Given the description of an element on the screen output the (x, y) to click on. 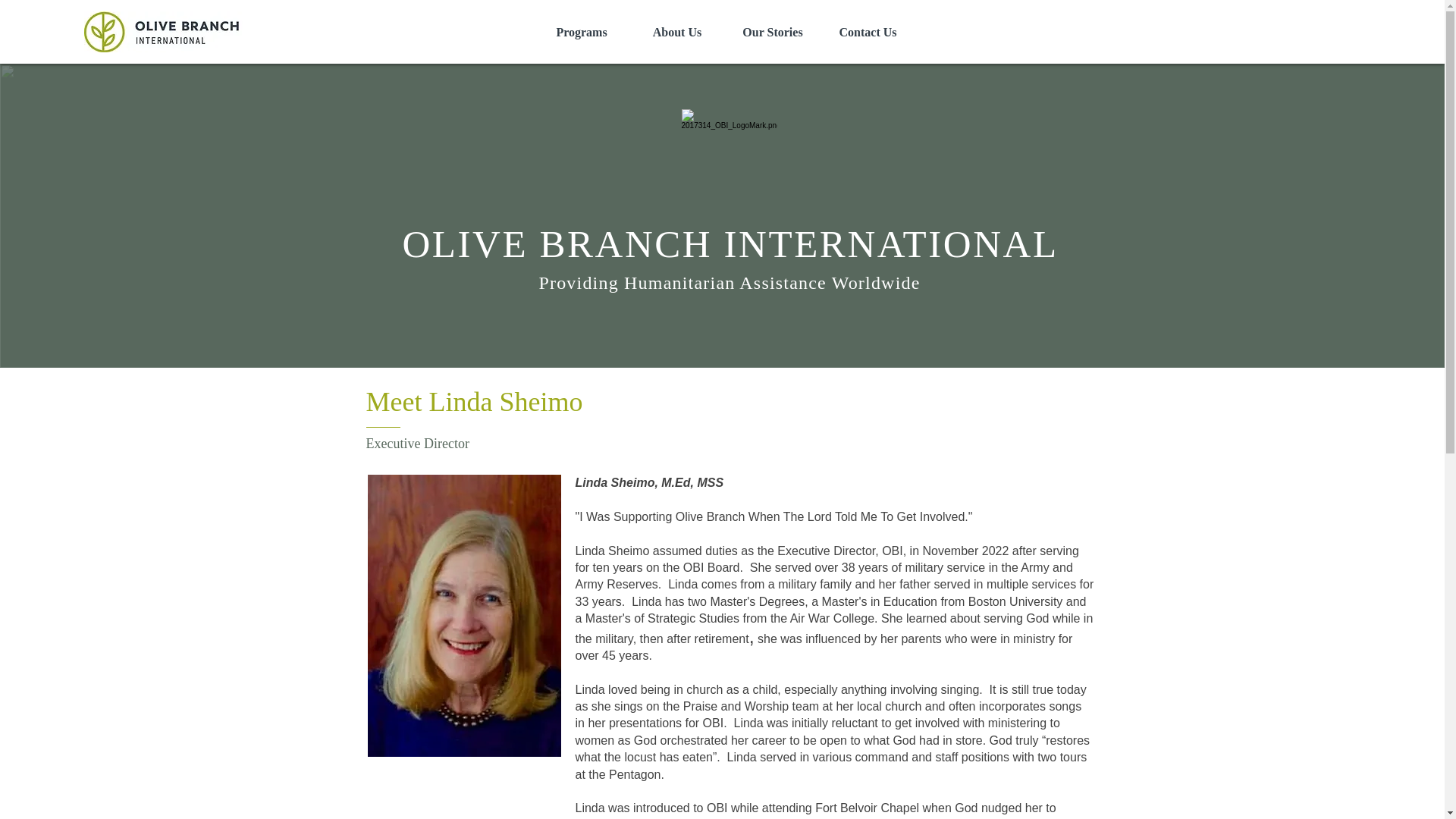
Contact Us (868, 32)
Our Stories (773, 32)
About Us (676, 32)
